Given the description of an element on the screen output the (x, y) to click on. 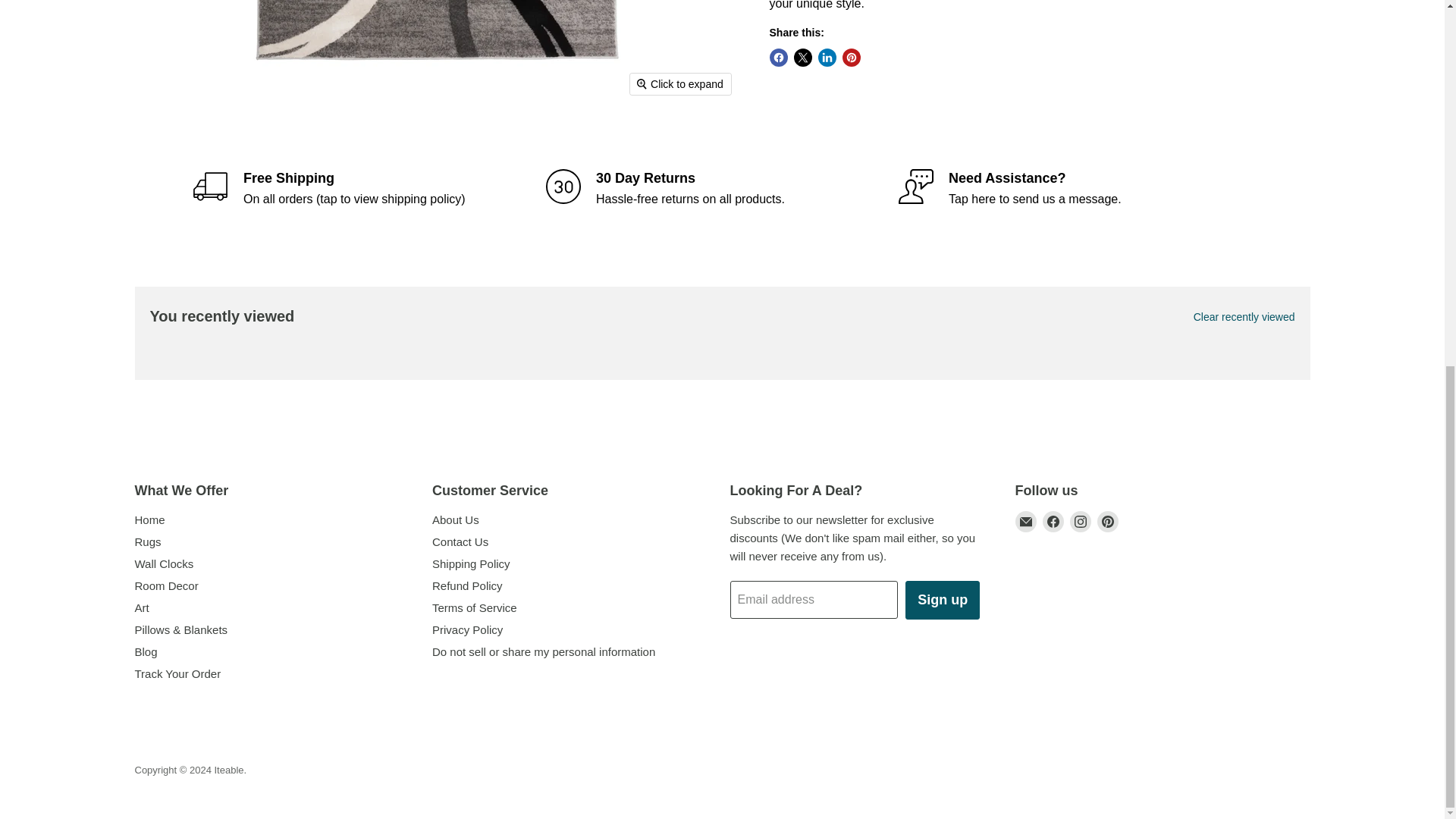
Instagram (1079, 521)
Pinterest (1107, 521)
Email (1024, 521)
Facebook (1052, 521)
